Given the description of an element on the screen output the (x, y) to click on. 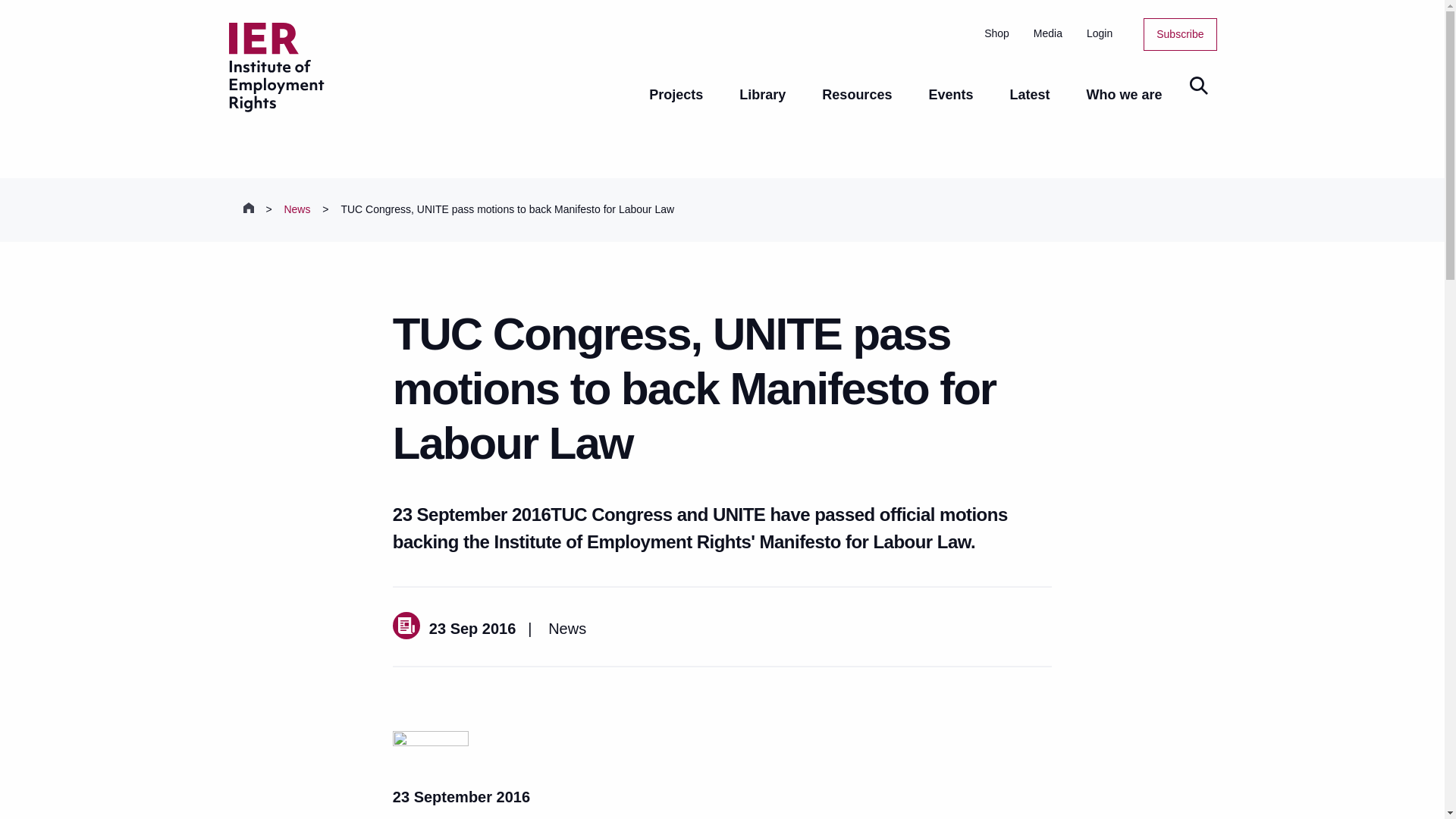
Resources (856, 106)
Latest (1029, 106)
Search (1197, 85)
Projects (675, 106)
Go to the News category archives. (296, 209)
Who we are (1123, 106)
Library (761, 106)
Login (1099, 34)
Subscribe (1179, 33)
Media (1048, 34)
Events (950, 106)
Shop (997, 34)
